Given the description of an element on the screen output the (x, y) to click on. 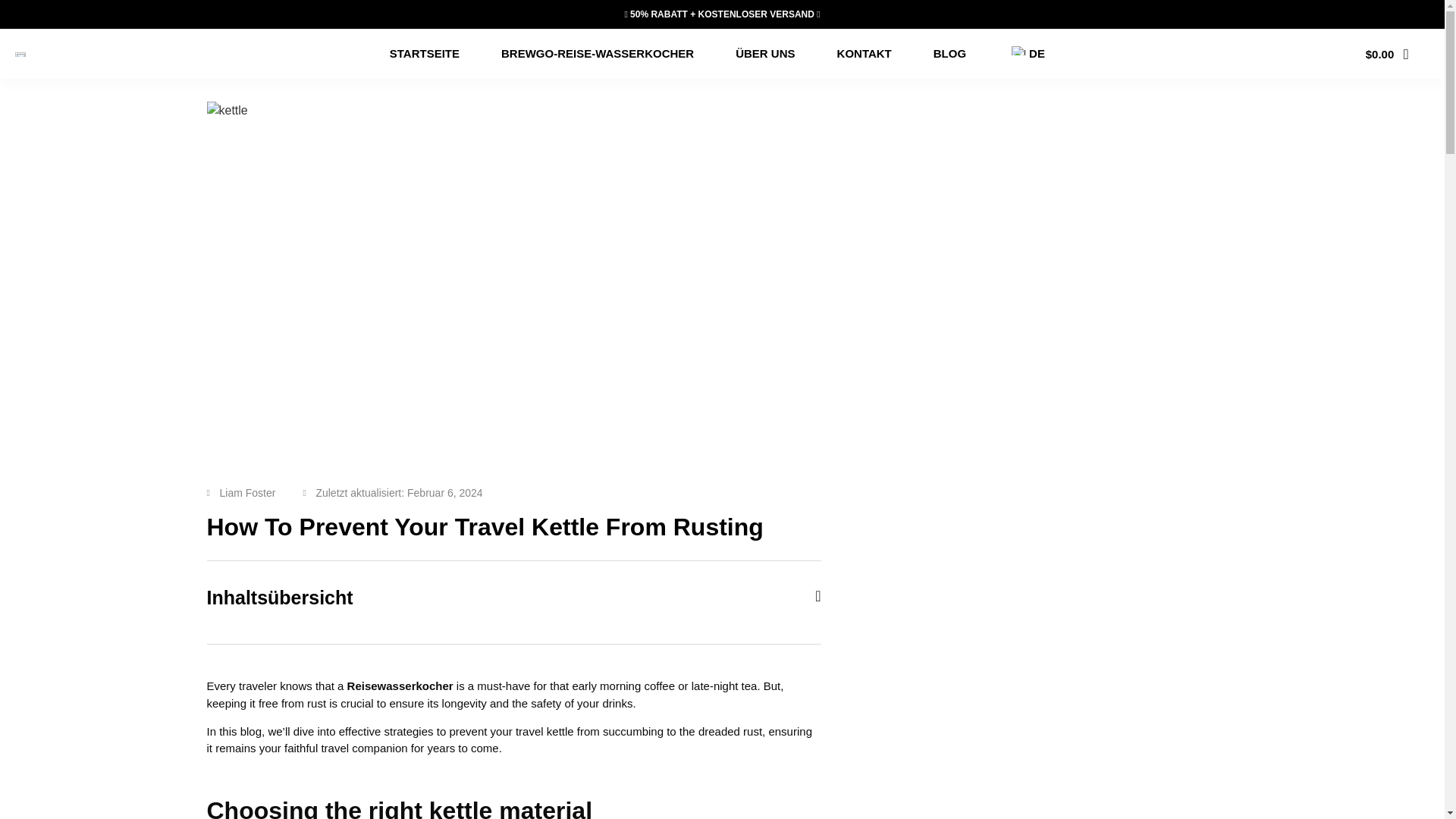
KONTAKT (864, 53)
STARTSEITE (425, 53)
German (1018, 50)
BLOG (949, 53)
DE (1026, 53)
BREWGO-REISE-WASSERKOCHER (597, 53)
